Given the description of an element on the screen output the (x, y) to click on. 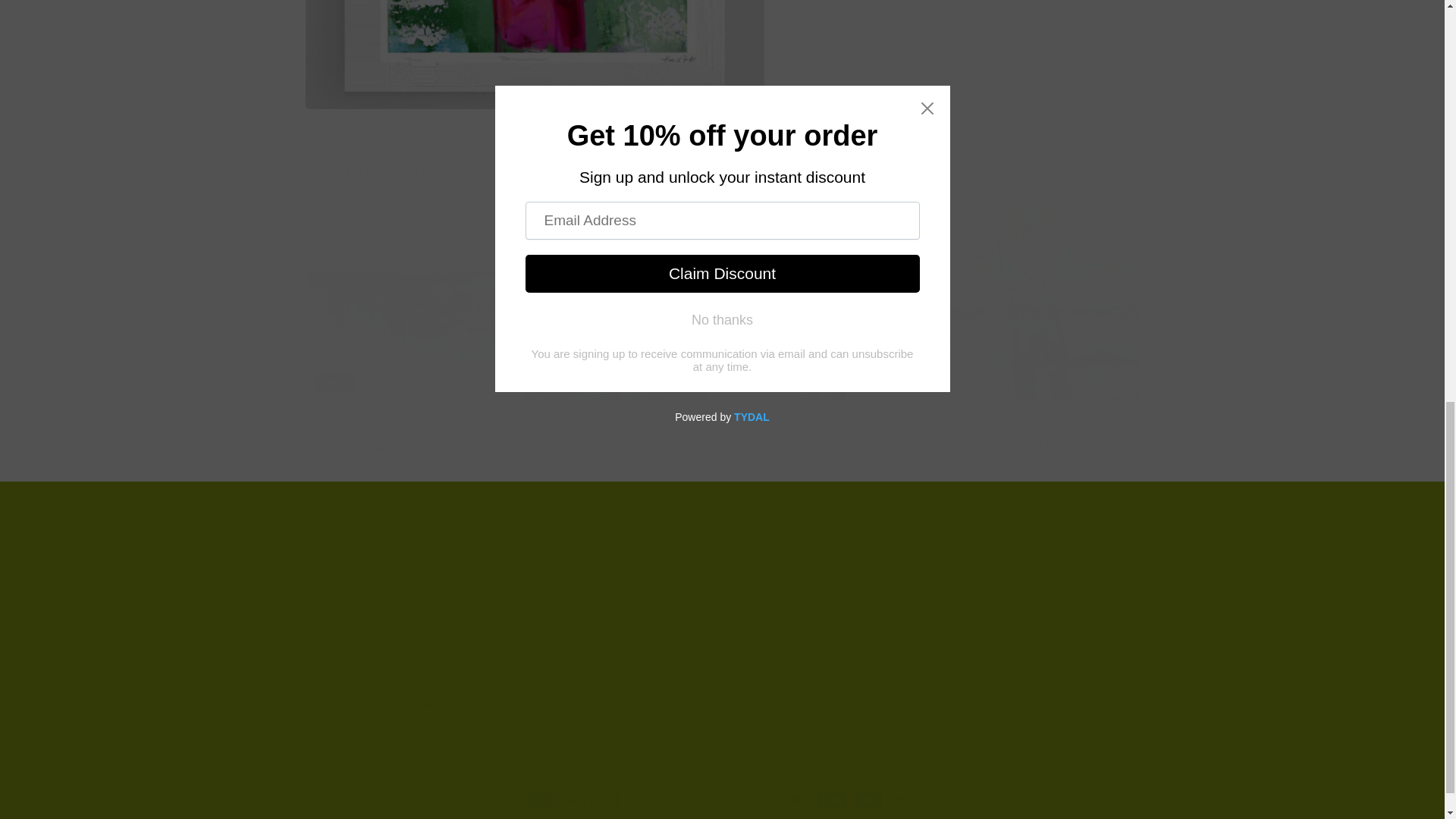
Subscribe to Studio News (721, 543)
Email (721, 701)
